Given the description of an element on the screen output the (x, y) to click on. 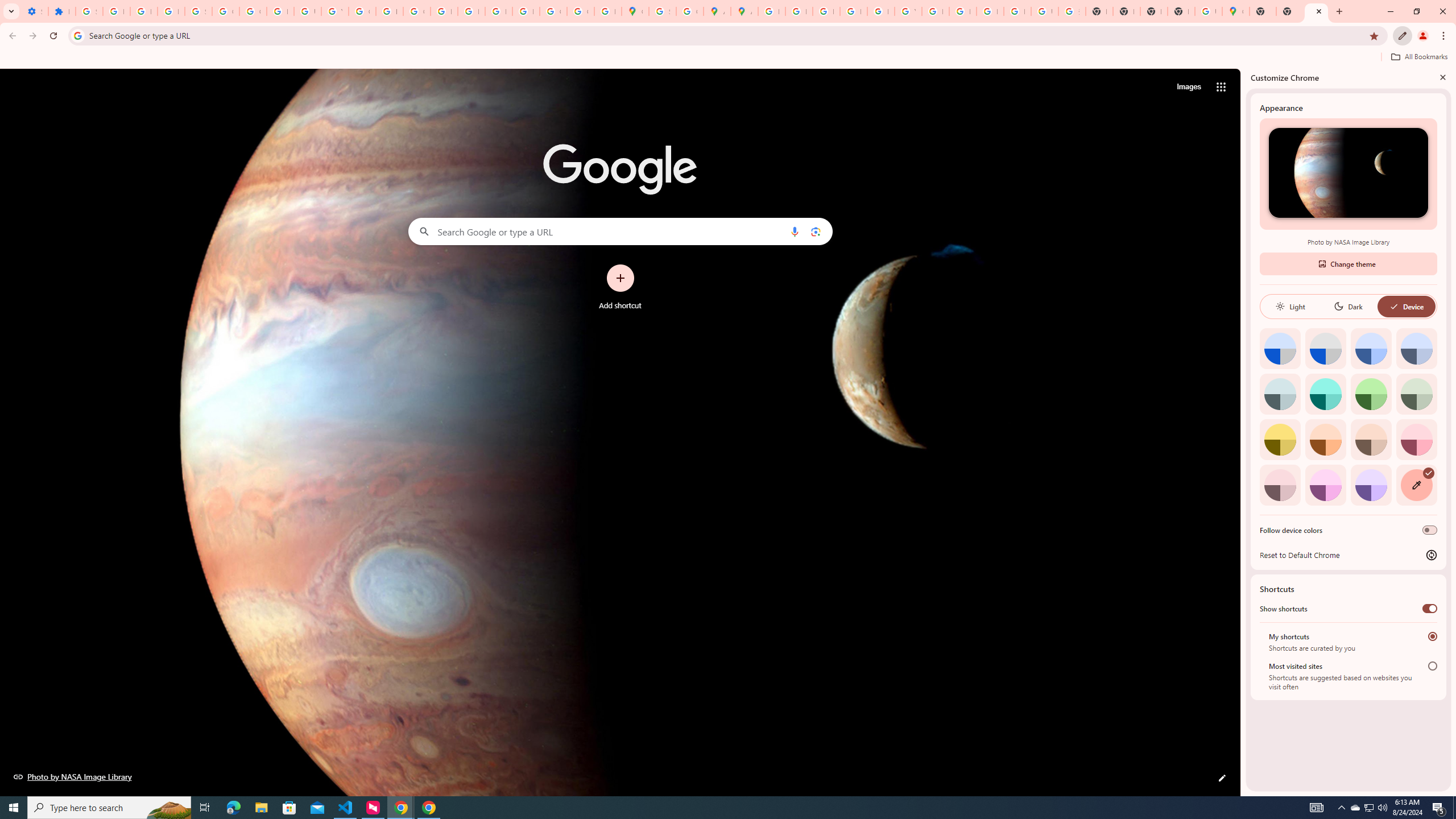
Light (1289, 305)
My shortcuts (1432, 636)
Google Account Help (225, 11)
Privacy Help Center - Policies Help (799, 11)
Google Maps (1236, 11)
Rose (1416, 439)
Customize this page (1221, 778)
Violet (1371, 484)
Fuchsia (1325, 484)
https://scholar.google.com/ (389, 11)
New Tab (1262, 11)
